Given the description of an element on the screen output the (x, y) to click on. 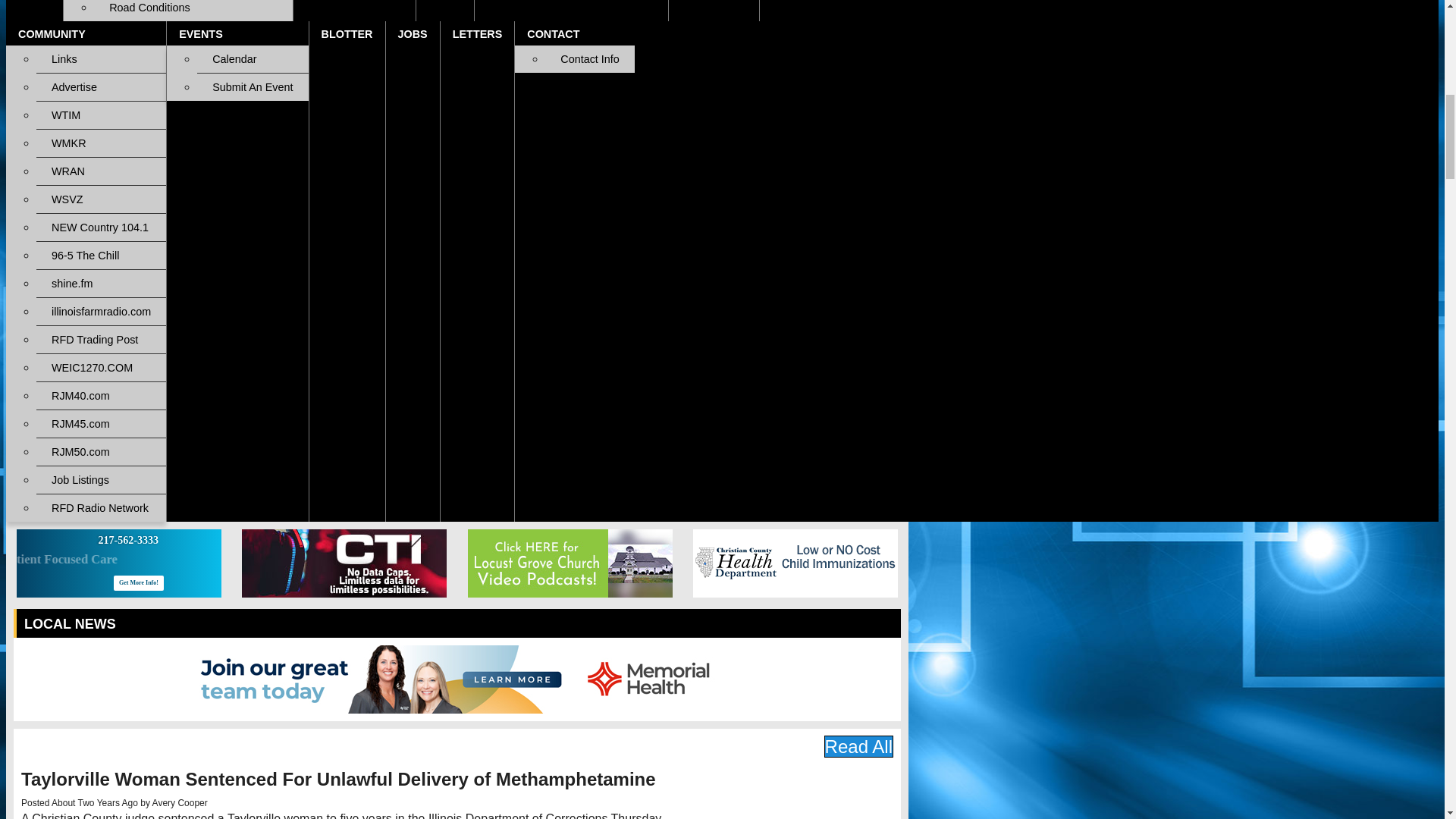
Road Conditions (193, 10)
Read All (858, 746)
